Given the description of an element on the screen output the (x, y) to click on. 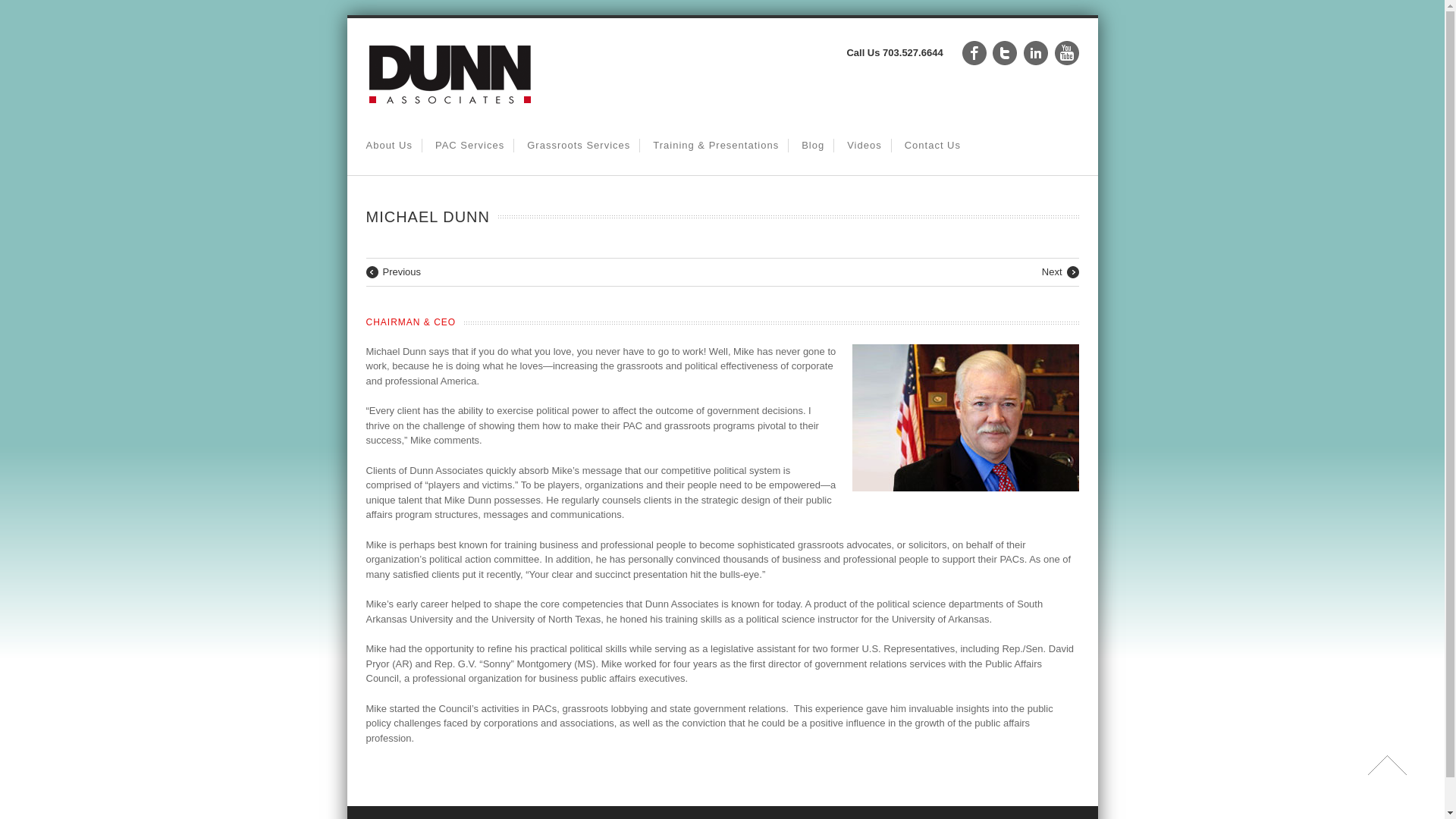
PAC Services (469, 145)
Twitter (1004, 52)
Grassroots Services (578, 145)
Next (1060, 272)
Youtube (1066, 52)
Previous (392, 272)
Contact Us (932, 145)
Facebook (974, 52)
Linkedin (1035, 52)
Dunn Associates (449, 108)
